Given the description of an element on the screen output the (x, y) to click on. 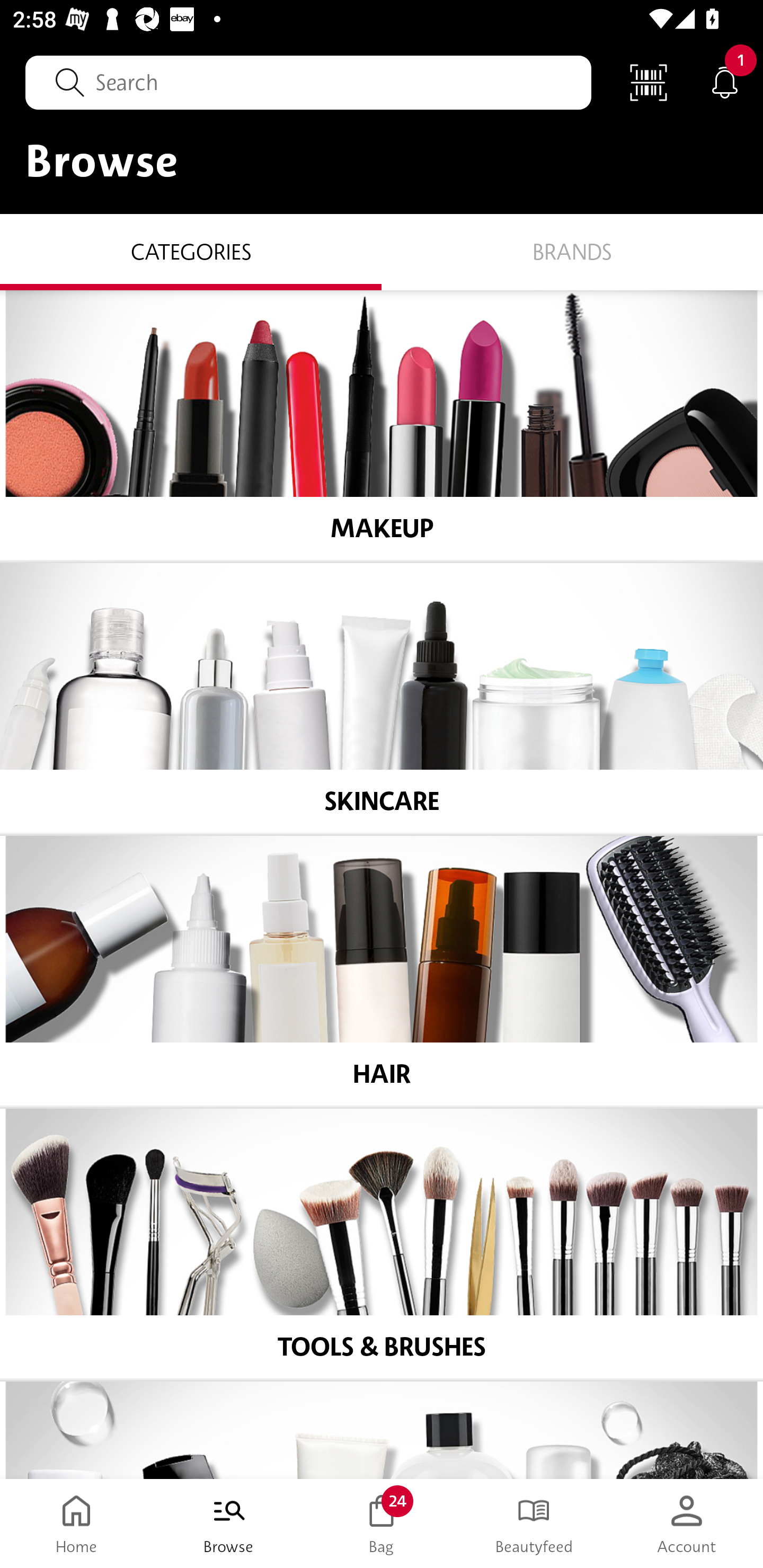
Scan Code (648, 81)
Notifications (724, 81)
Search (308, 81)
Brands BRANDS (572, 251)
MAKEUP (381, 425)
SKINCARE (381, 698)
HAIR (381, 971)
TOOLS & BRUSHES (381, 1243)
Home (76, 1523)
Bag 24 Bag (381, 1523)
Beautyfeed (533, 1523)
Account (686, 1523)
